Given the description of an element on the screen output the (x, y) to click on. 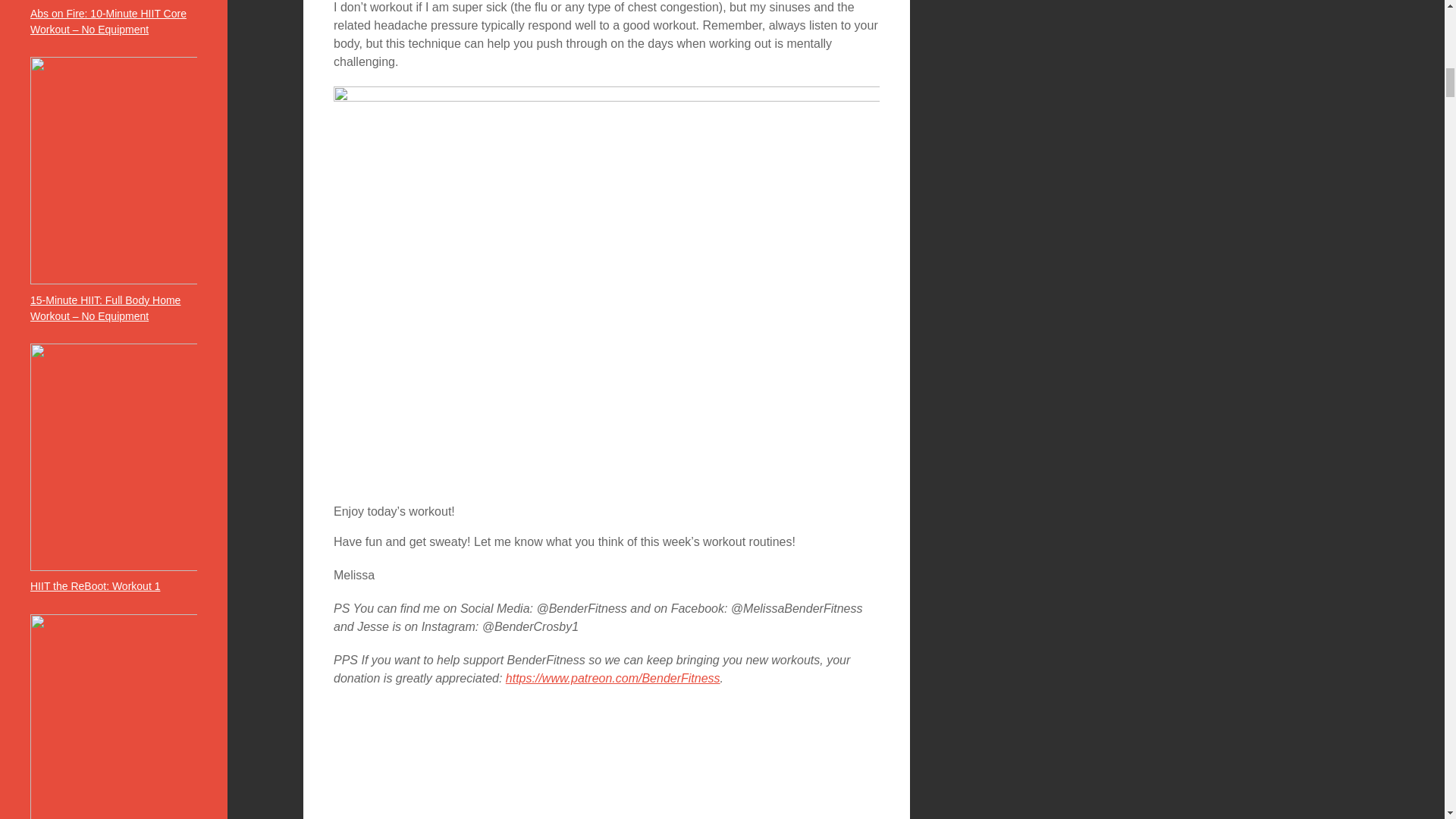
HIIT the ReBoot: Workout 1 (95, 585)
